Given the description of an element on the screen output the (x, y) to click on. 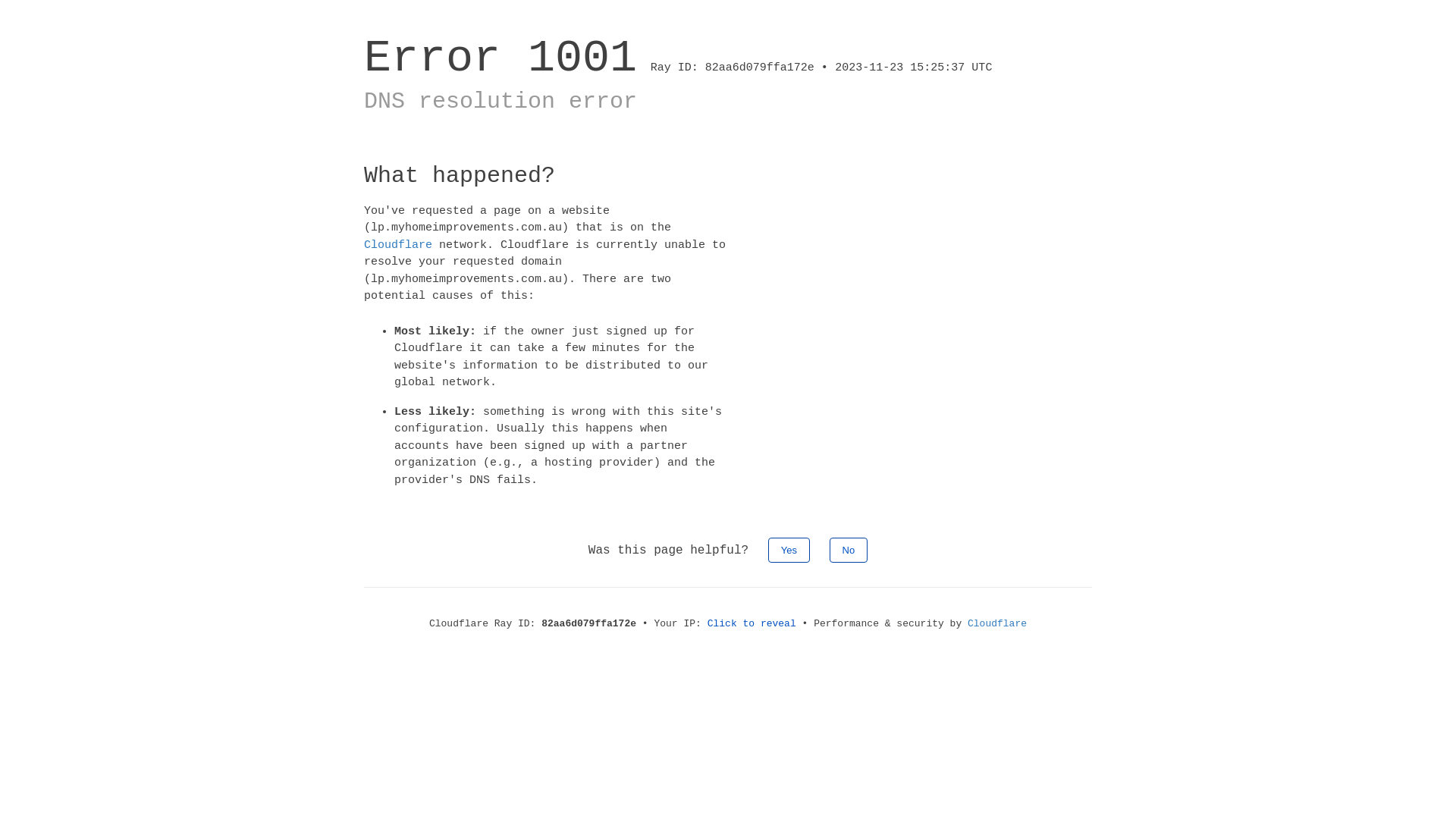
Cloudflare Element type: text (398, 244)
Click to reveal Element type: text (751, 623)
Yes Element type: text (788, 549)
Cloudflare Element type: text (996, 623)
No Element type: text (848, 549)
